Given the description of an element on the screen output the (x, y) to click on. 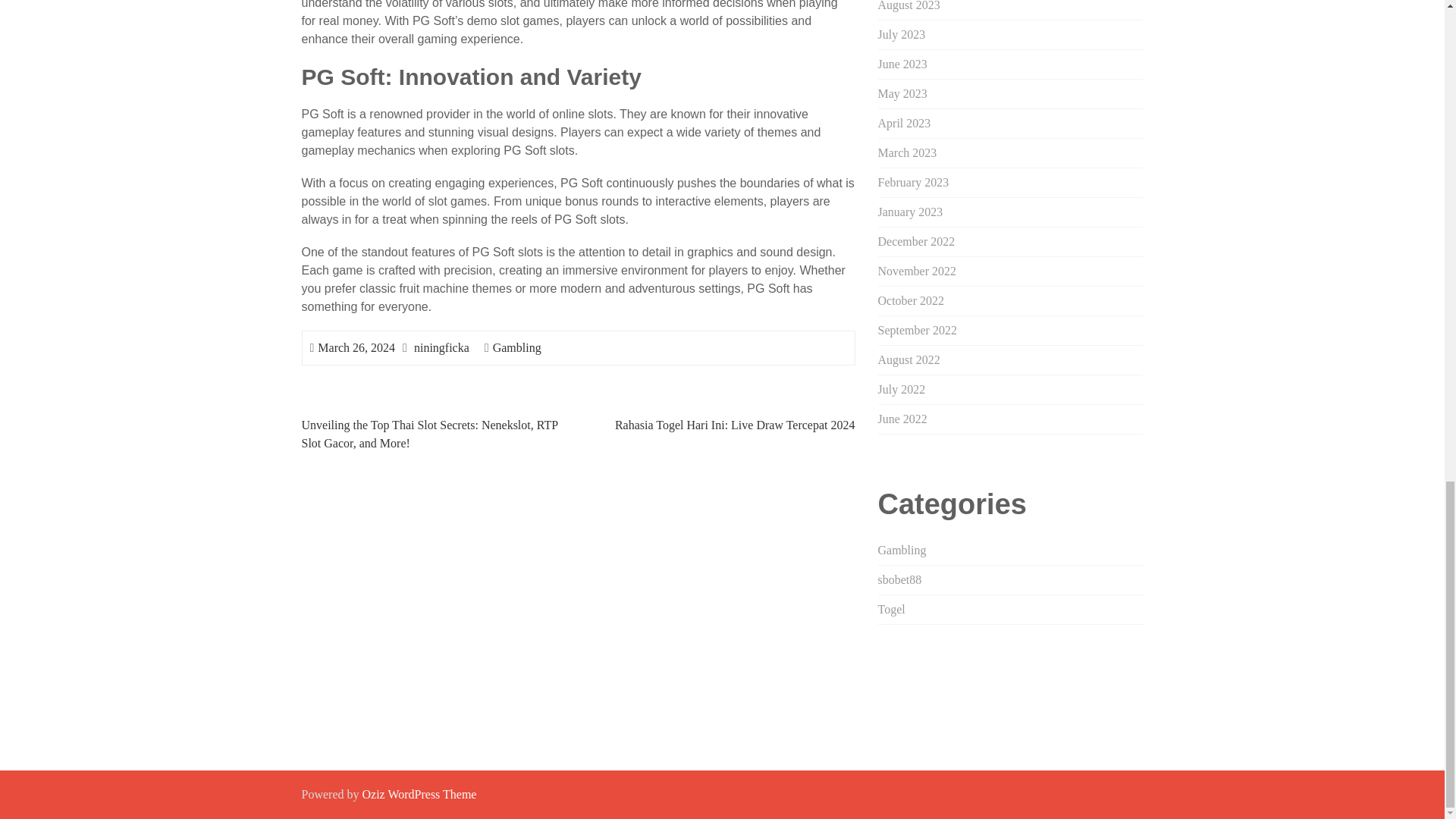
Gambling (517, 347)
May 2023 (902, 92)
November 2022 (916, 270)
August 2023 (908, 5)
July 2023 (901, 33)
January 2023 (910, 211)
December 2022 (916, 241)
March 26, 2024 (355, 347)
niningficka (440, 347)
April 2023 (904, 123)
June 2023 (902, 63)
October 2022 (910, 300)
February 2023 (913, 182)
March 2023 (907, 152)
